Given the description of an element on the screen output the (x, y) to click on. 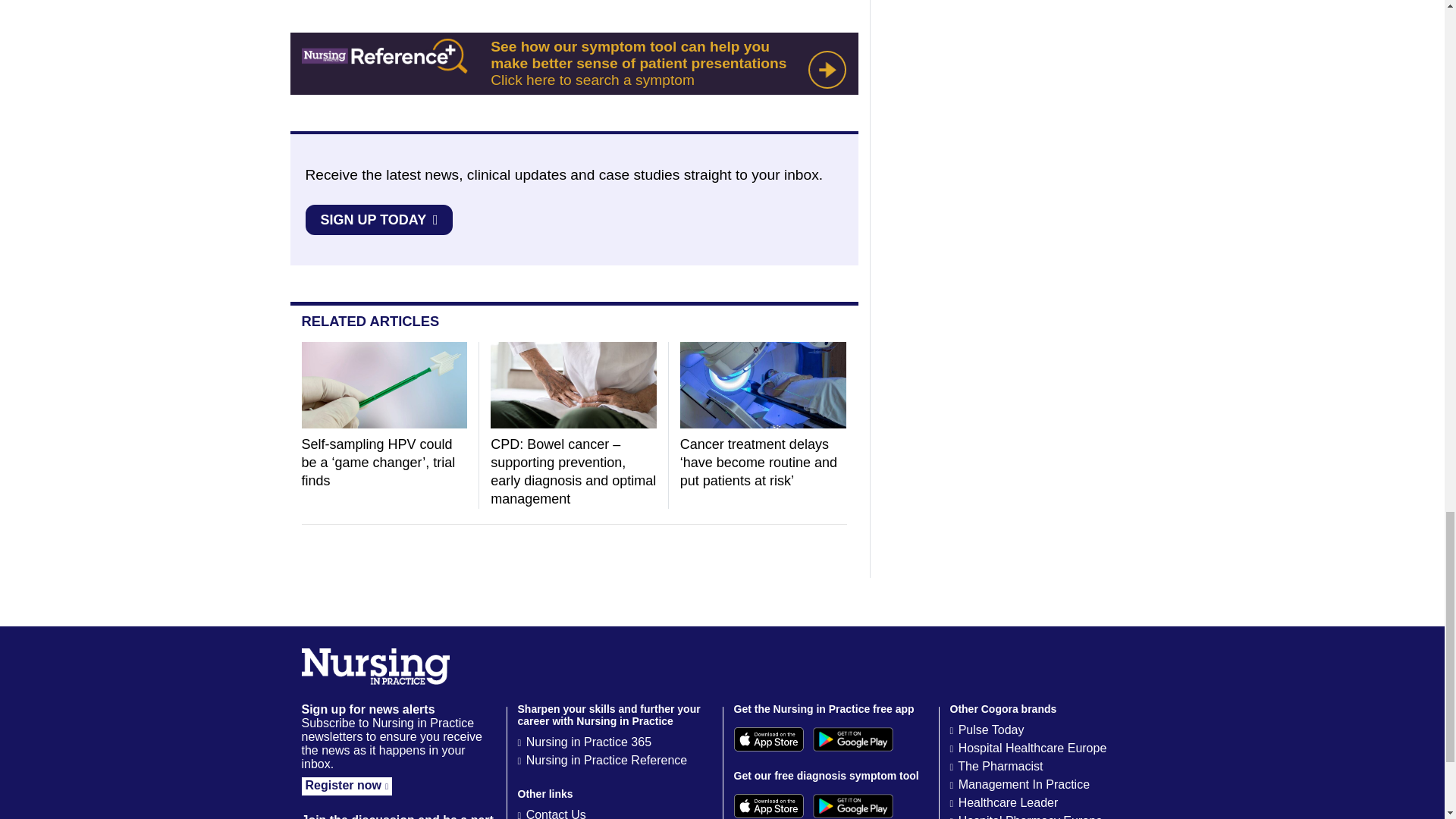
Pulse Today (991, 729)
Hospital Healthcare Europe (1032, 748)
Healthcare Leader (1008, 802)
Management In Practice (1023, 784)
The Pharmacist (1000, 766)
Download our app from Google Play (852, 739)
Download our app from the Apple App Store (768, 805)
Hospital Pharmacy Europe (1030, 816)
Download our app from Google Play (852, 805)
Download our app from the Apple App Store (768, 739)
